Given the description of an element on the screen output the (x, y) to click on. 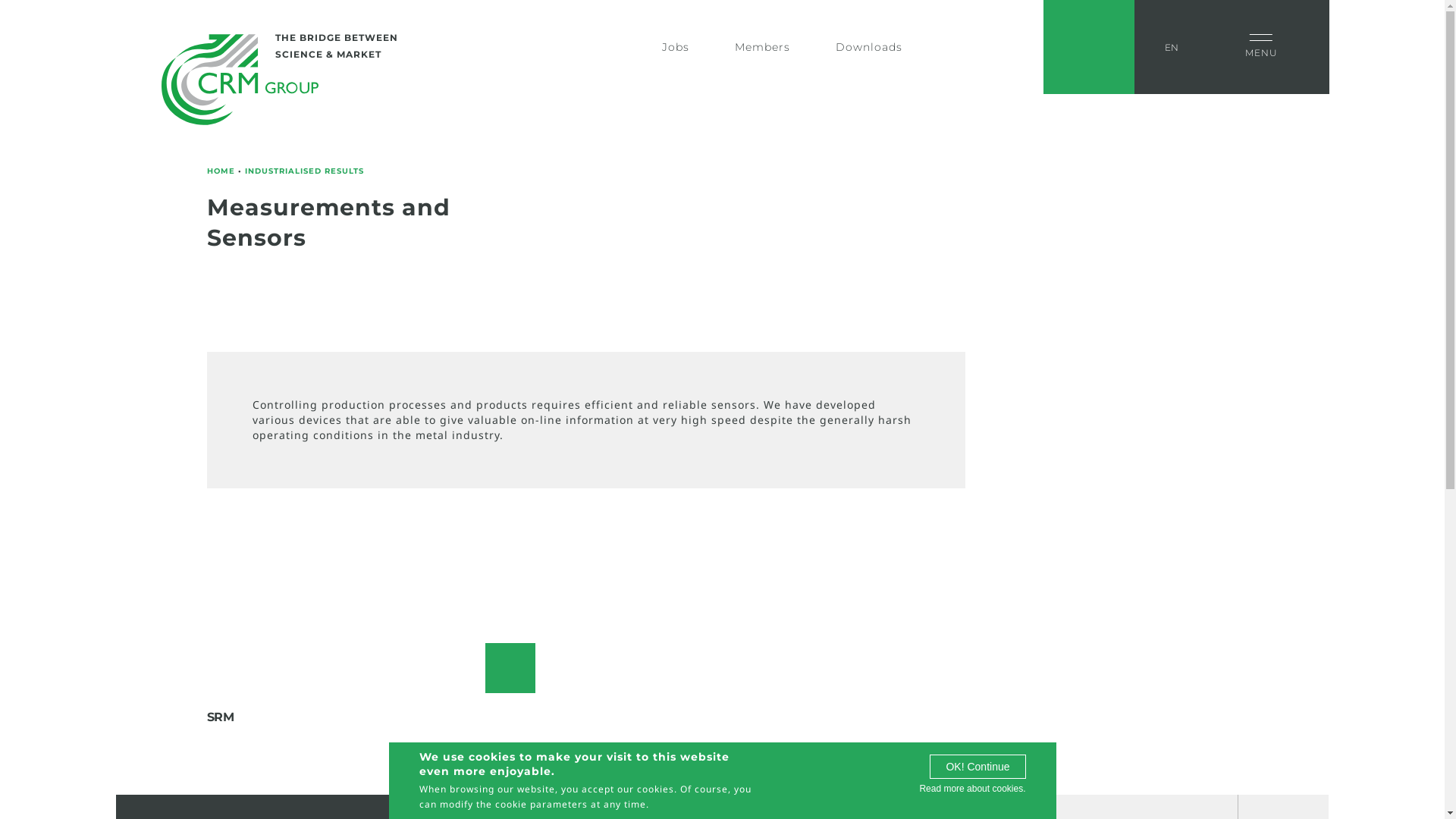
Read more Element type: text (510, 668)
Read more about cookies. Element type: text (972, 788)
HOME Element type: text (220, 170)
Search Element type: text (607, 46)
INDUSTRIALISED RESULTS Element type: text (303, 170)
Members Element type: text (761, 50)
OK! Continue Element type: text (977, 766)
Downloads Element type: text (868, 50)
Jobs Element type: text (674, 50)
Contact Element type: text (1088, 47)
Feder Element type: text (500, 56)
CRM Group
THE BRIDGE BETWEEN SCIENCE & MARKET Element type: text (238, 79)
